Given the description of an element on the screen output the (x, y) to click on. 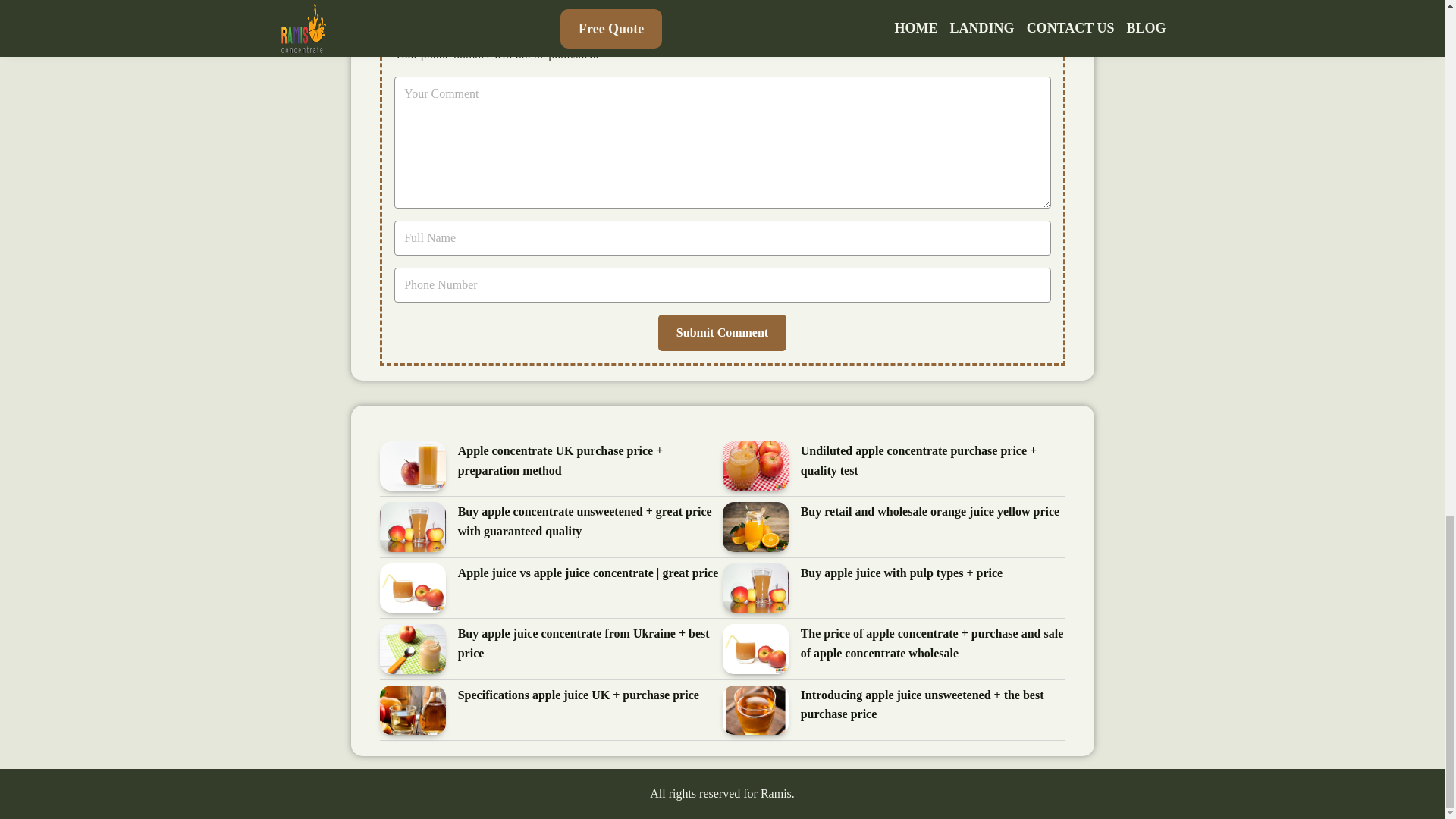
Buy retail and wholesale orange juice yellow price (929, 512)
Submit Comment (722, 332)
Submit Comment (722, 332)
